Given the description of an element on the screen output the (x, y) to click on. 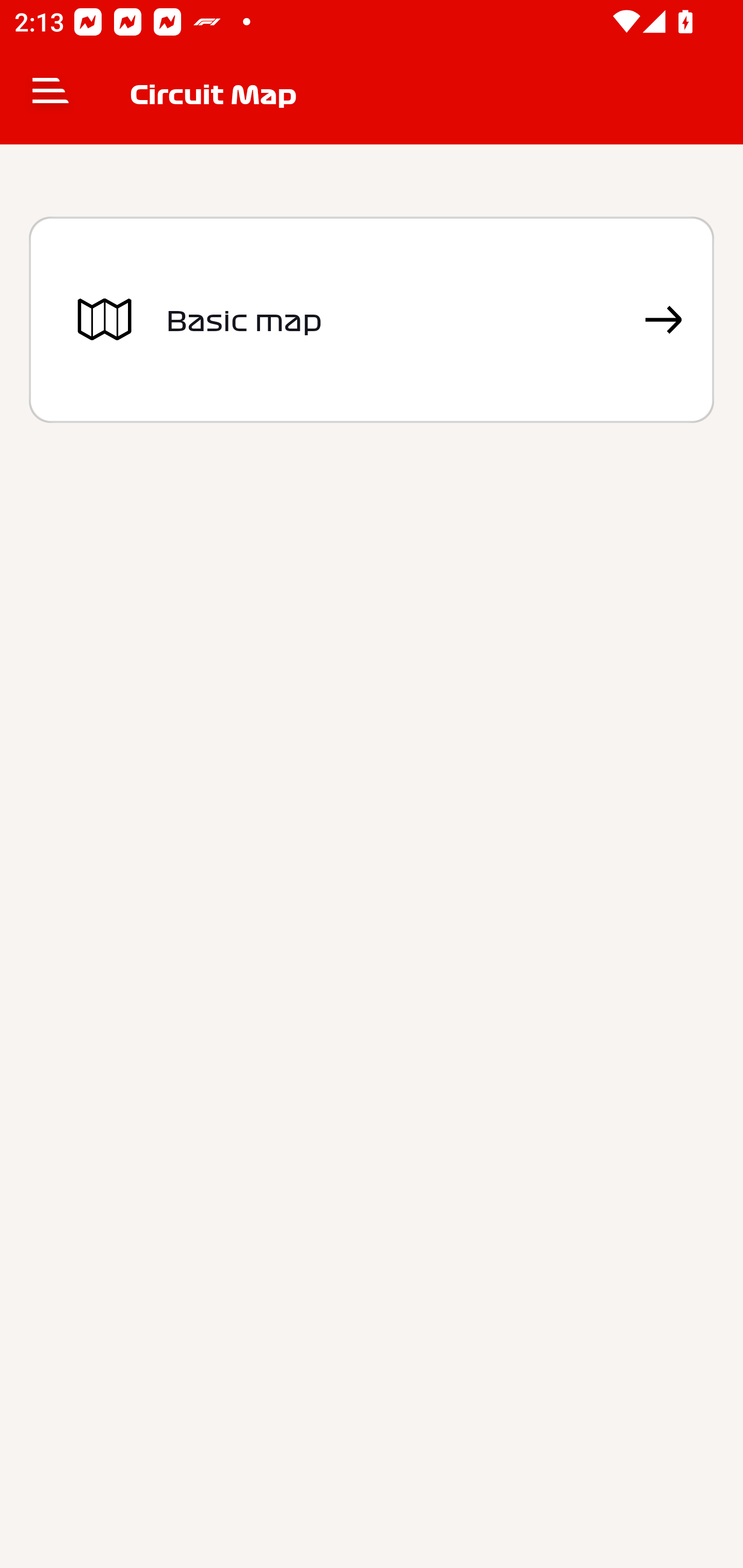
Navigate up (50, 93)
Basic map (371, 319)
